Given the description of an element on the screen output the (x, y) to click on. 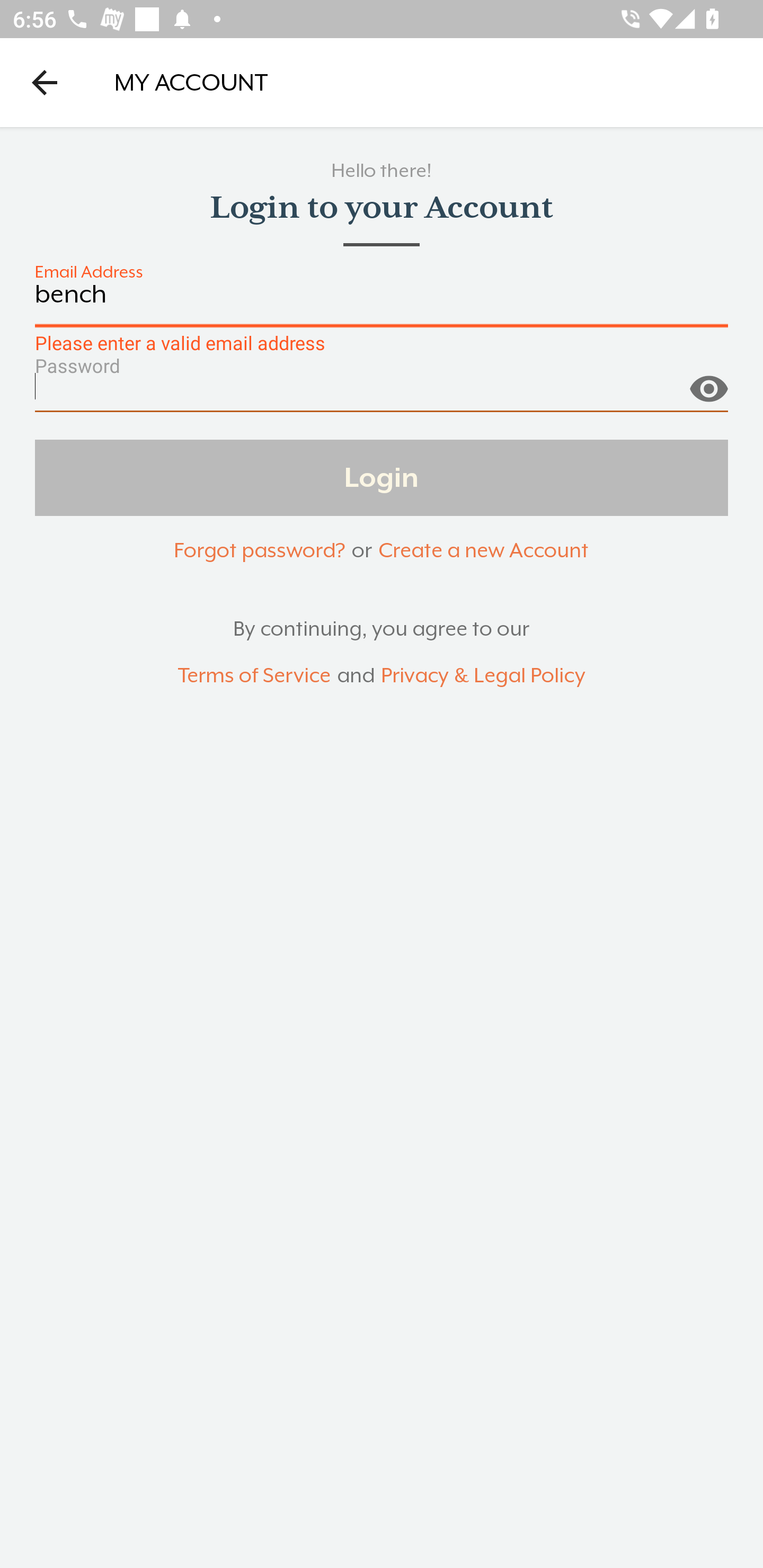
Navigate up (44, 82)
bench (381, 304)
 (708, 381)
Password (381, 393)
Login (381, 477)
Forgot password? (259, 550)
Create a new Account (483, 550)
Terms of Service (253, 675)
Privacy & Legal Policy (483, 675)
